Given the description of an element on the screen output the (x, y) to click on. 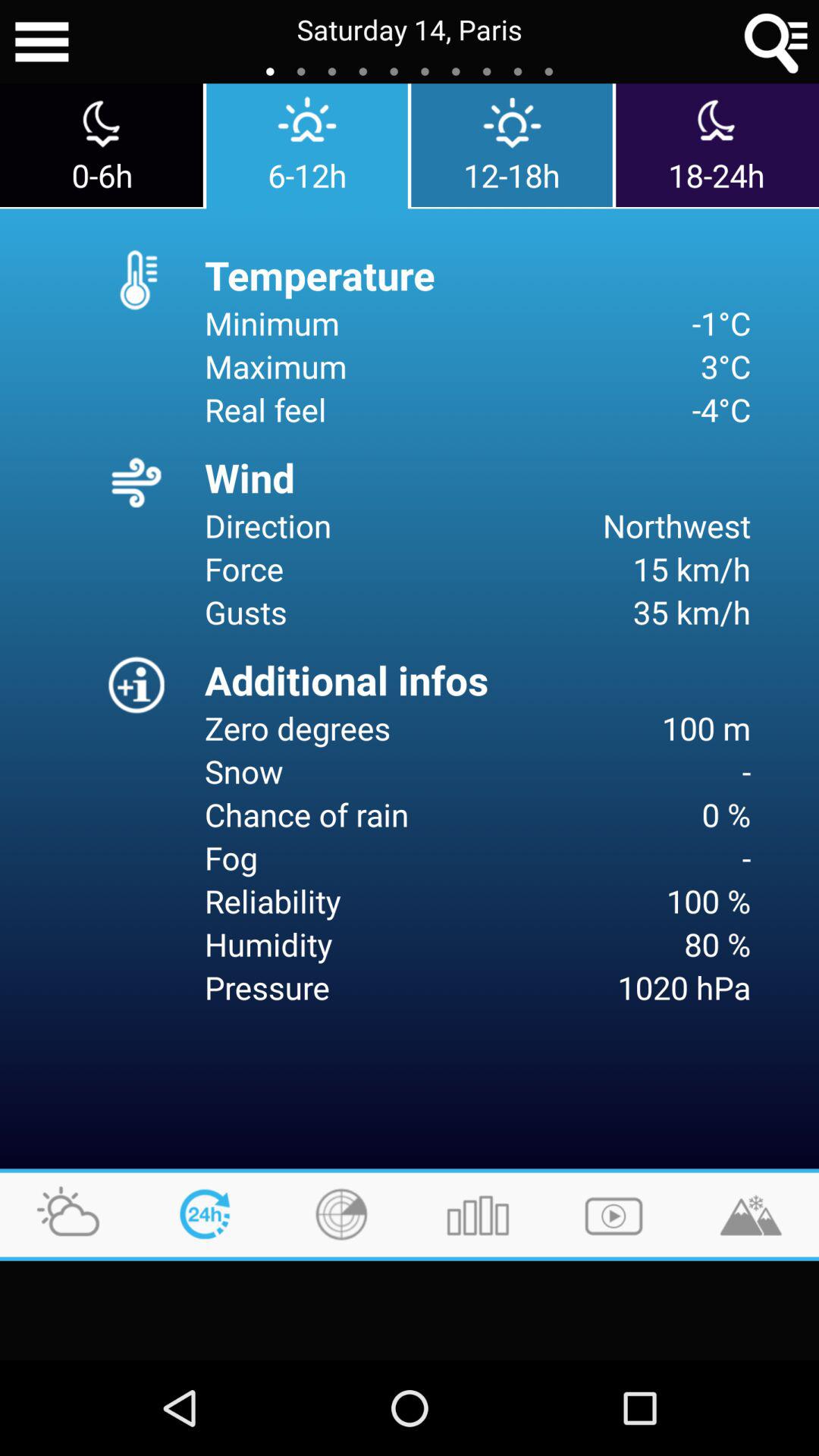
more options (41, 41)
